Given the description of an element on the screen output the (x, y) to click on. 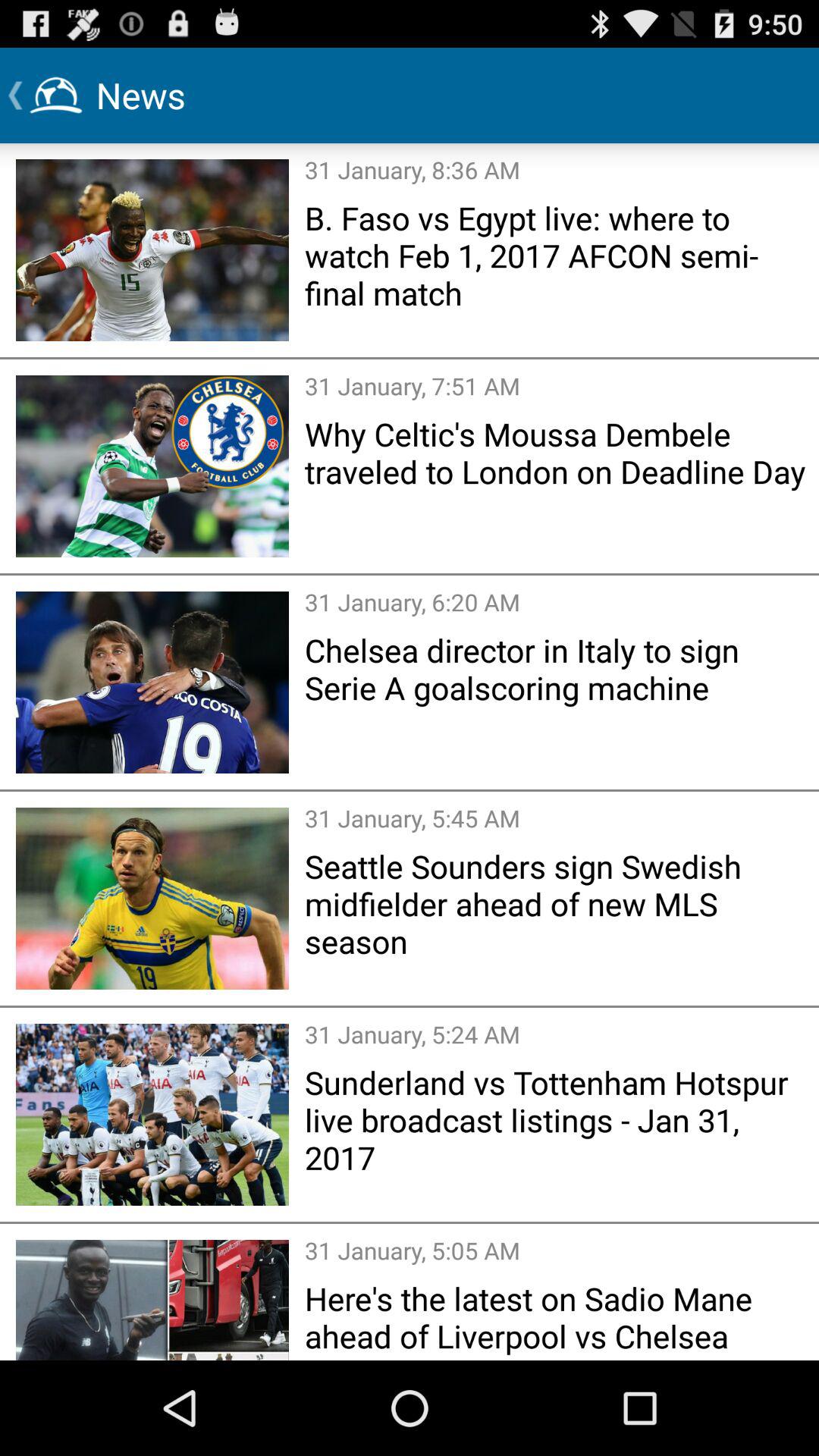
press the item above 31 january 7 icon (556, 255)
